Given the description of an element on the screen output the (x, y) to click on. 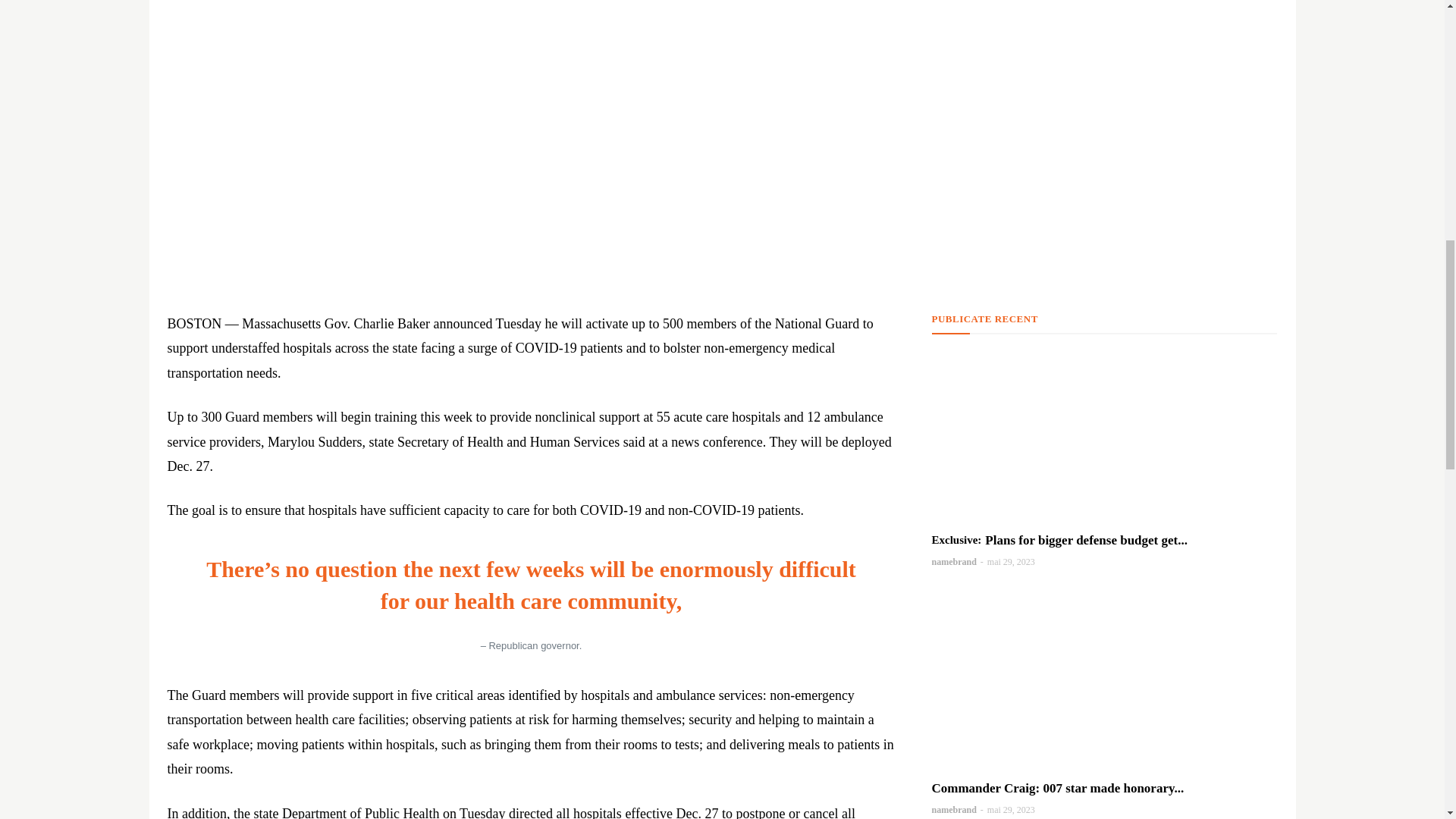
Plans for bigger defense budget get boost after bill vote (1103, 435)
Commander Craig: 007 star made honorary... (1057, 788)
Plans for bigger defense budget get... (1058, 540)
Plans for bigger defense budget get boost after bill vote (1058, 540)
Commander Craig: 007 star made honorary Royal Navy officer (1057, 788)
namebrand (953, 561)
Commander Craig: 007 star made honorary Royal Navy officer (1103, 683)
namebrand (953, 809)
